Given the description of an element on the screen output the (x, y) to click on. 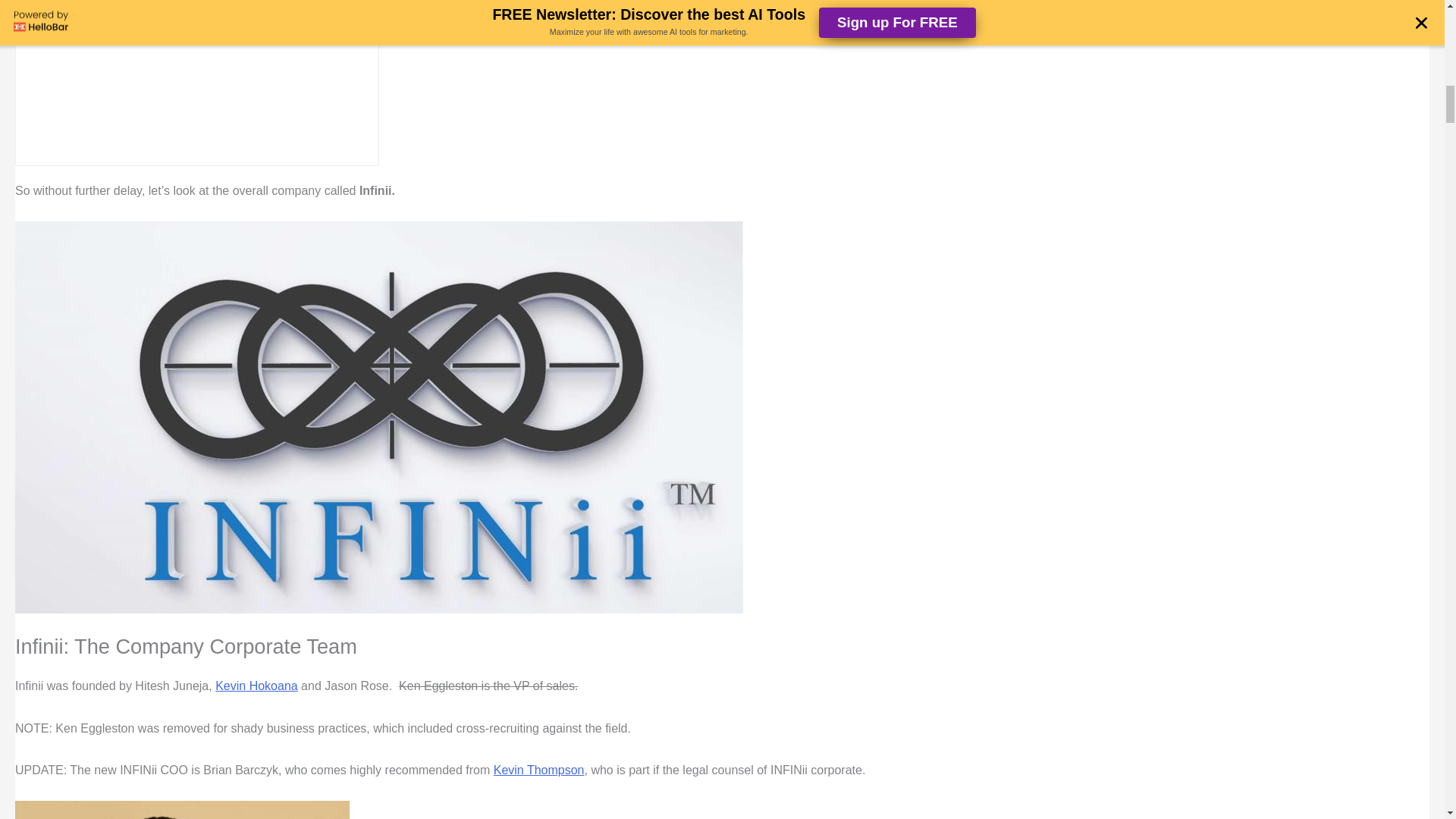
Kevin Thompson (539, 769)
Kevin Hokoana (256, 685)
